Given the description of an element on the screen output the (x, y) to click on. 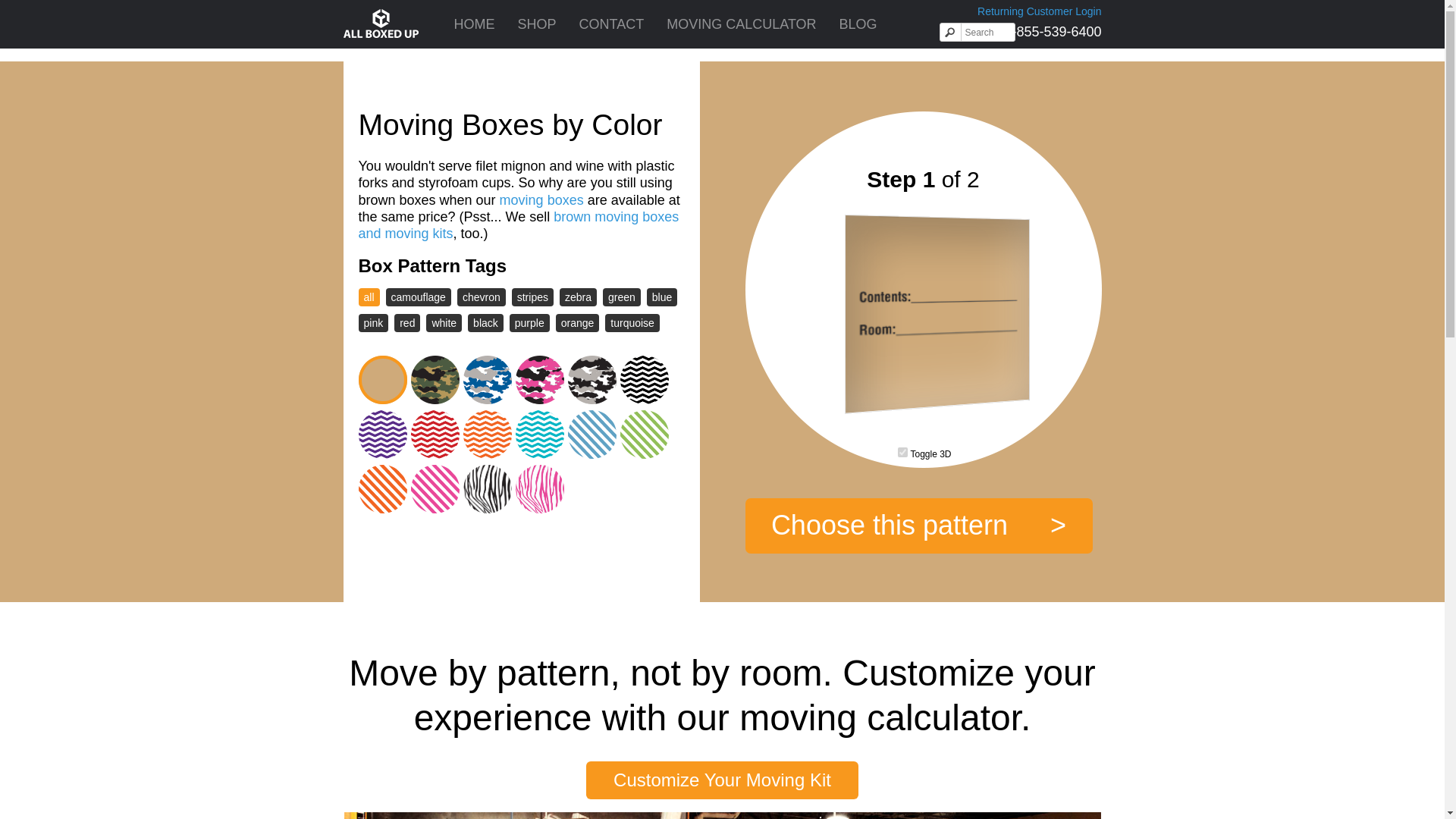
brown moving boxes and moving kits (518, 224)
Chevron Turquoise Moving Boxes (541, 437)
Camouflage Glamo Moving Boxes (541, 382)
Chevron Purple Moving Boxes (384, 437)
Chevron Black Moving Boxes (646, 382)
Stripes Pink Moving Boxes (436, 492)
Zebra Black Moving Boxes (489, 492)
on (902, 452)
Camouflage Silver Moving Boxes (593, 382)
Stripes Dark Green Moving Boxes (646, 437)
Zebra Pink Moving Boxes (541, 492)
Camouflage Blue Moving Boxes (489, 382)
all (368, 297)
CONTACT (611, 24)
Stripes Blue Moving Boxes (593, 437)
